Given the description of an element on the screen output the (x, y) to click on. 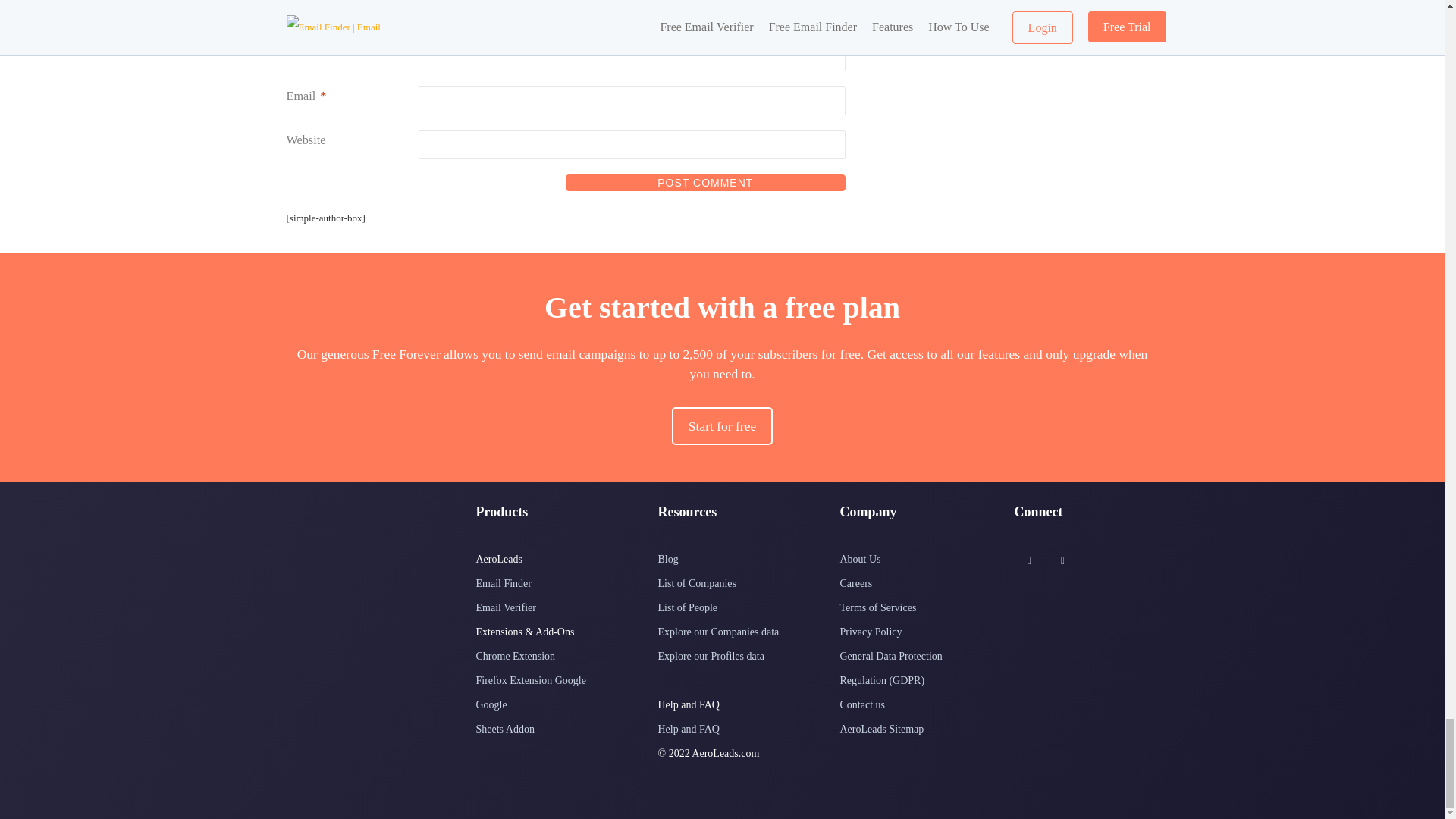
Post Comment (705, 182)
